Given the description of an element on the screen output the (x, y) to click on. 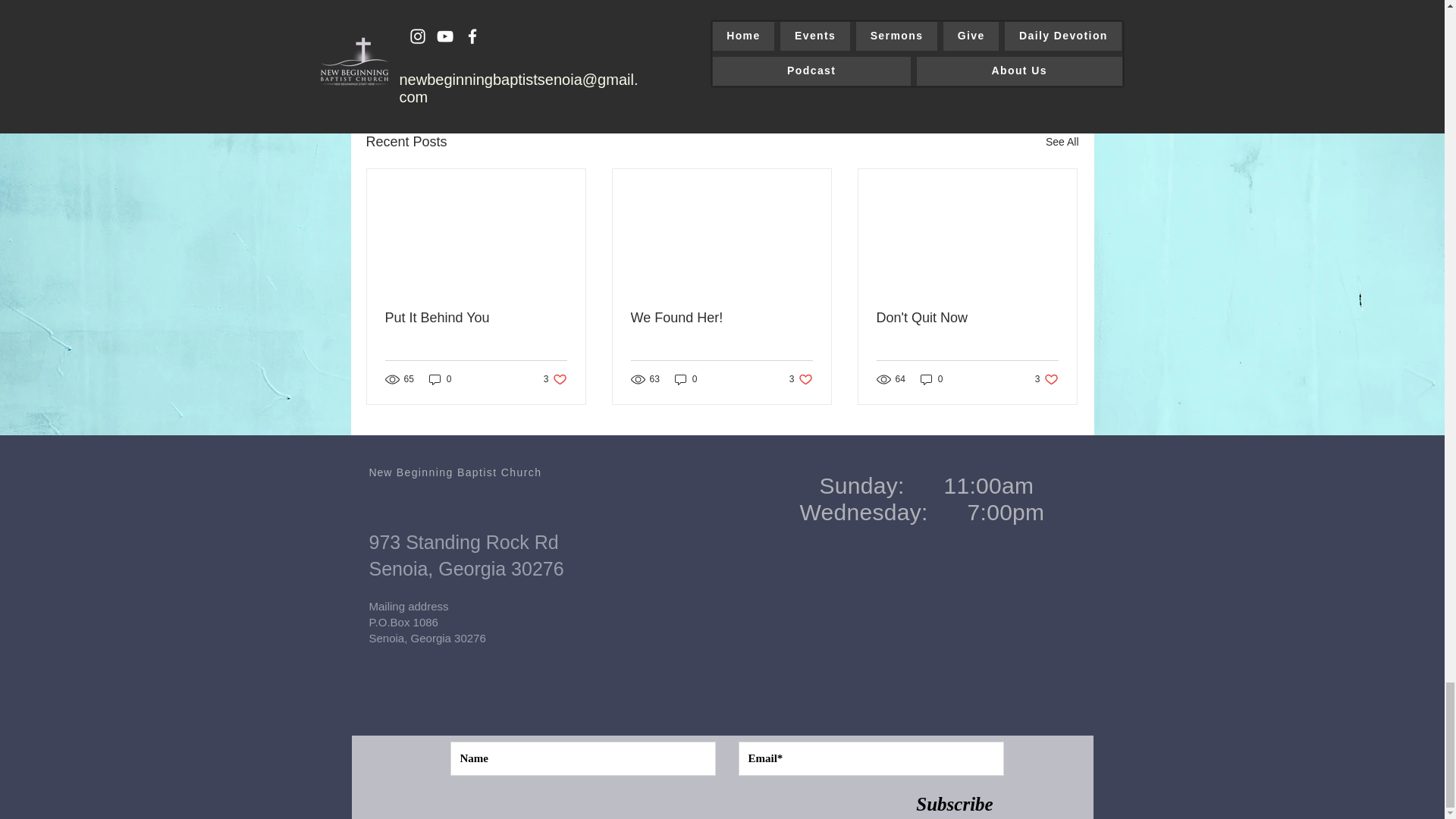
Put It Behind You (990, 59)
0 (476, 317)
Don't Quit Now (685, 379)
0 (967, 317)
See All (931, 379)
0 (800, 379)
We Found Her! (1061, 142)
